Given the description of an element on the screen output the (x, y) to click on. 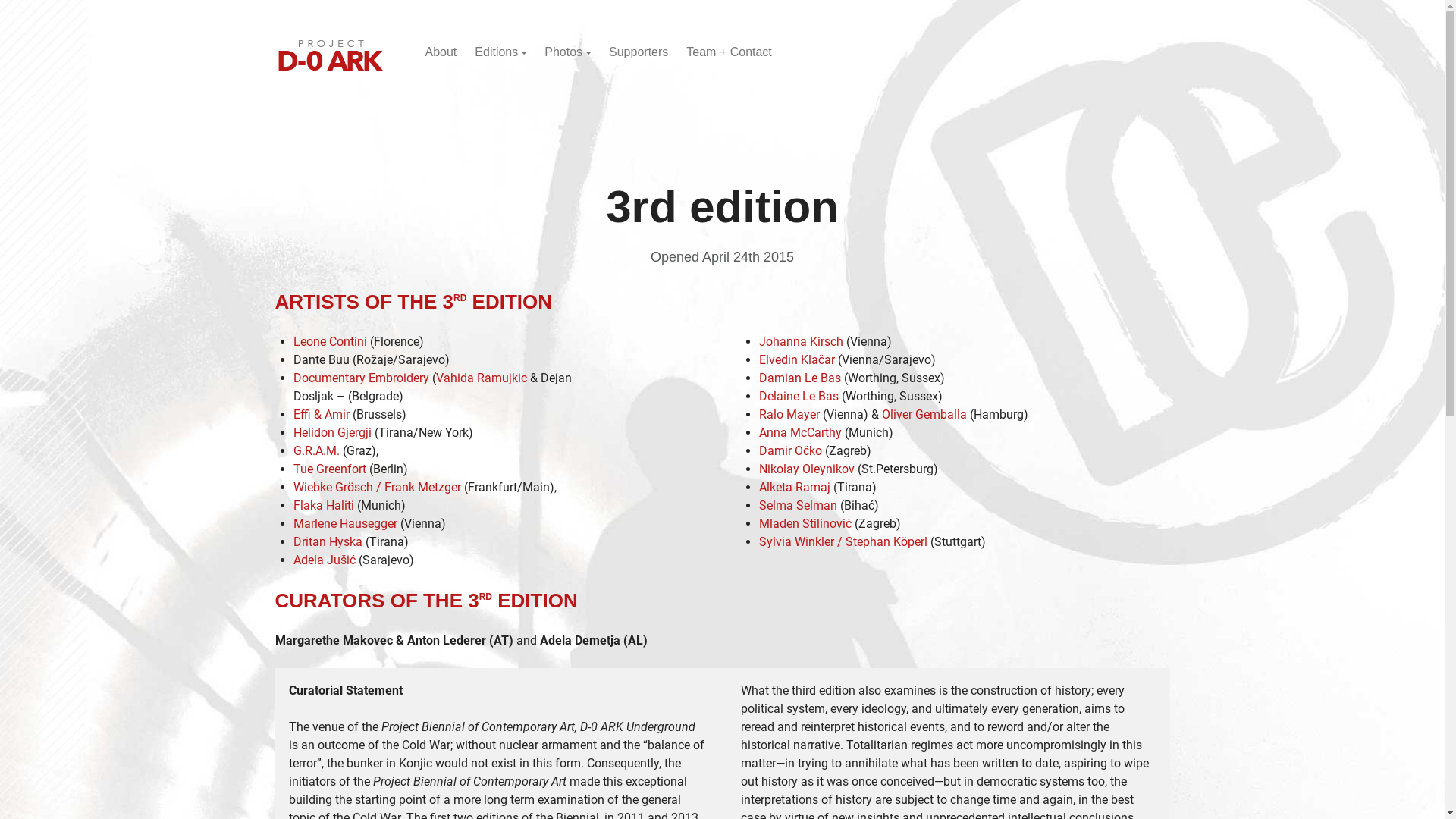
Documentary Embroidery Element type: text (360, 377)
G.R.A.M. Element type: text (315, 450)
Alketa Ramaj Element type: text (793, 487)
Tue Greenfort Element type: text (328, 468)
Vahida Ramujkic Element type: text (480, 377)
Dritan Hyska Element type: text (326, 541)
About Element type: text (440, 51)
Photos Element type: text (567, 51)
Effi & Amir Element type: text (320, 414)
Damian Le Bas Element type: text (799, 377)
Editions Element type: text (500, 51)
Marlene Hausegger Element type: text (344, 523)
Supporters Element type: text (638, 51)
Nikolay Oleynikov Element type: text (805, 468)
Flaka Haliti Element type: text (322, 505)
Selma Selman Element type: text (797, 505)
Delaine Le Bas Element type: text (797, 396)
Ralo Mayer Element type: text (788, 414)
Helidon Gjergji Element type: text (331, 432)
Johanna Kirsch Element type: text (800, 341)
Anna McCarthy Element type: text (799, 432)
Oliver Gemballa Element type: text (923, 414)
Team + Contact Element type: text (728, 51)
Leone Contini Element type: text (329, 341)
